Given the description of an element on the screen output the (x, y) to click on. 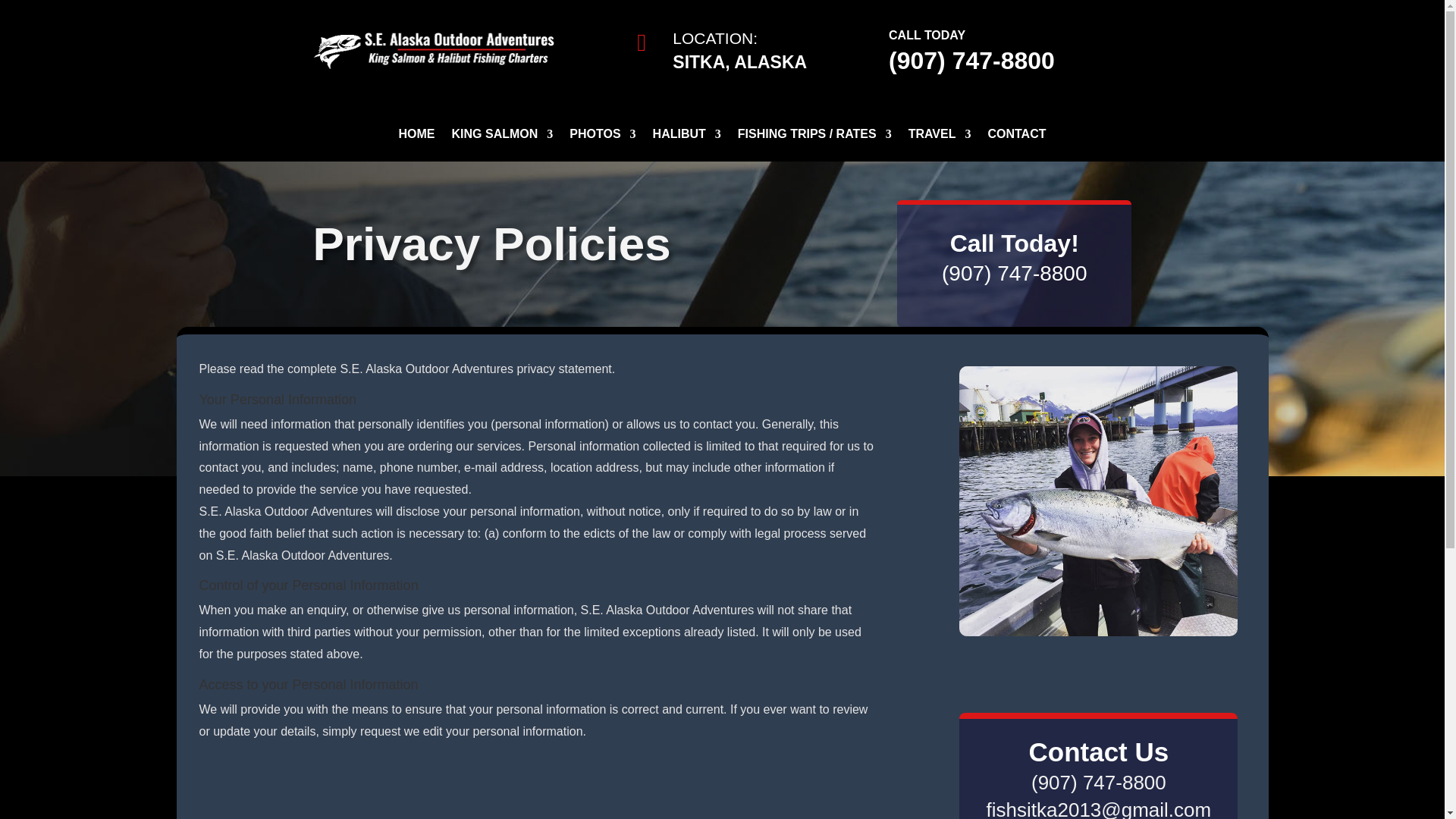
KING SALMON (502, 144)
Mobile Menu 4 SE Alaska Outdoor Adventures (433, 49)
CONTACT (1016, 144)
HOME (416, 144)
PHOTOS (601, 144)
HALIBUT (686, 144)
TRAVEL (939, 144)
